Given the description of an element on the screen output the (x, y) to click on. 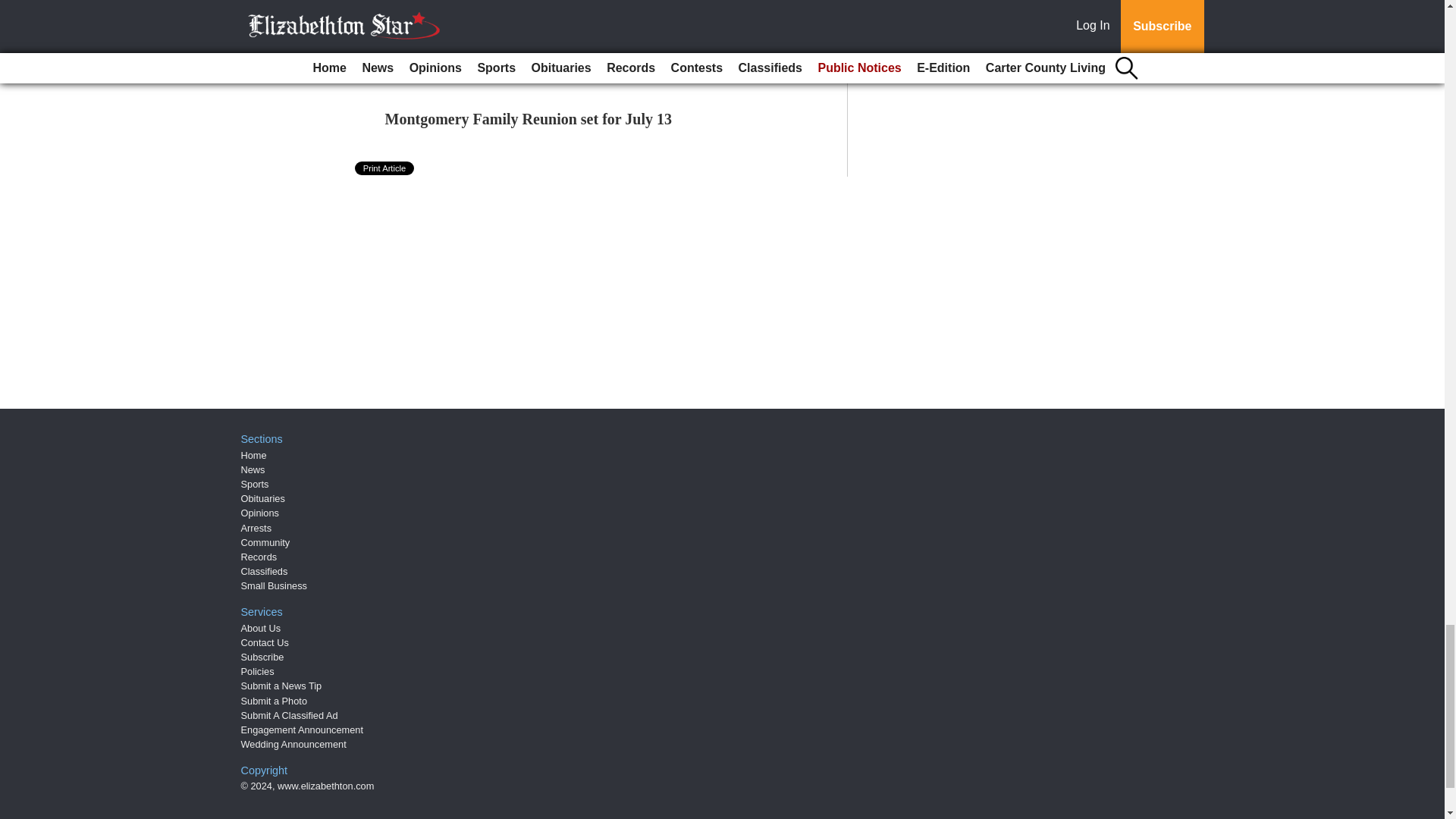
Sports (255, 483)
Arrests (256, 527)
Print Article (384, 168)
Class of 1957 celebrates 27 years of scholarships (498, 5)
Montgomery Family Reunion set for July 13 (528, 118)
News (252, 469)
Community (265, 542)
Records (259, 556)
Opinions (260, 512)
Home (253, 455)
Class of 1957 celebrates 27 years of scholarships (498, 5)
Montgomery Family Reunion set for July 13 (528, 118)
Obituaries (263, 498)
